Given the description of an element on the screen output the (x, y) to click on. 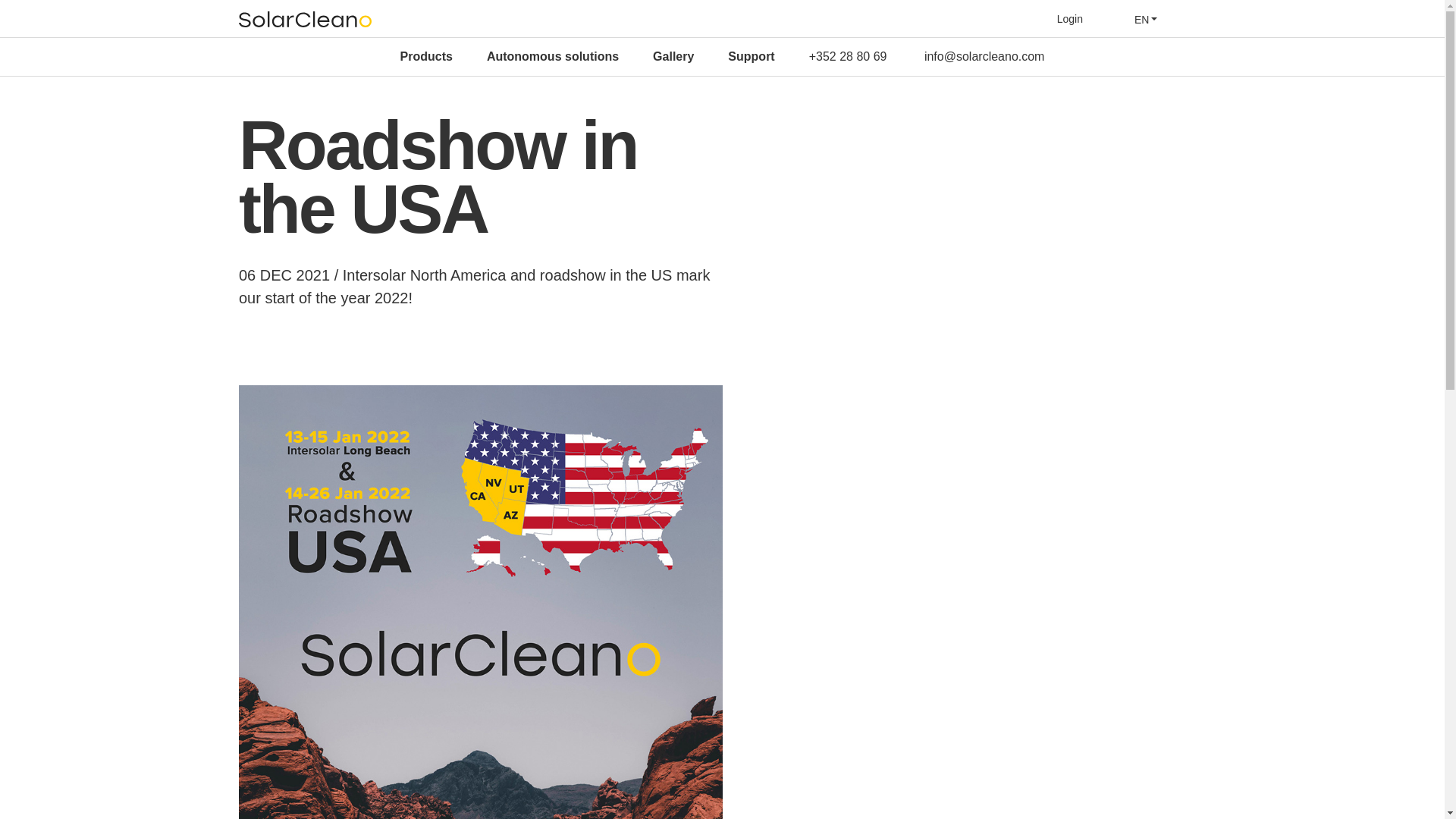
SolarCleano Home (304, 18)
Menu (1197, 18)
Digital Catalogue (772, 55)
Autonomous solutions (552, 56)
About (601, 55)
Support (751, 56)
Login (1070, 19)
Gallery (673, 56)
News (671, 55)
Products (426, 56)
